Given the description of an element on the screen output the (x, y) to click on. 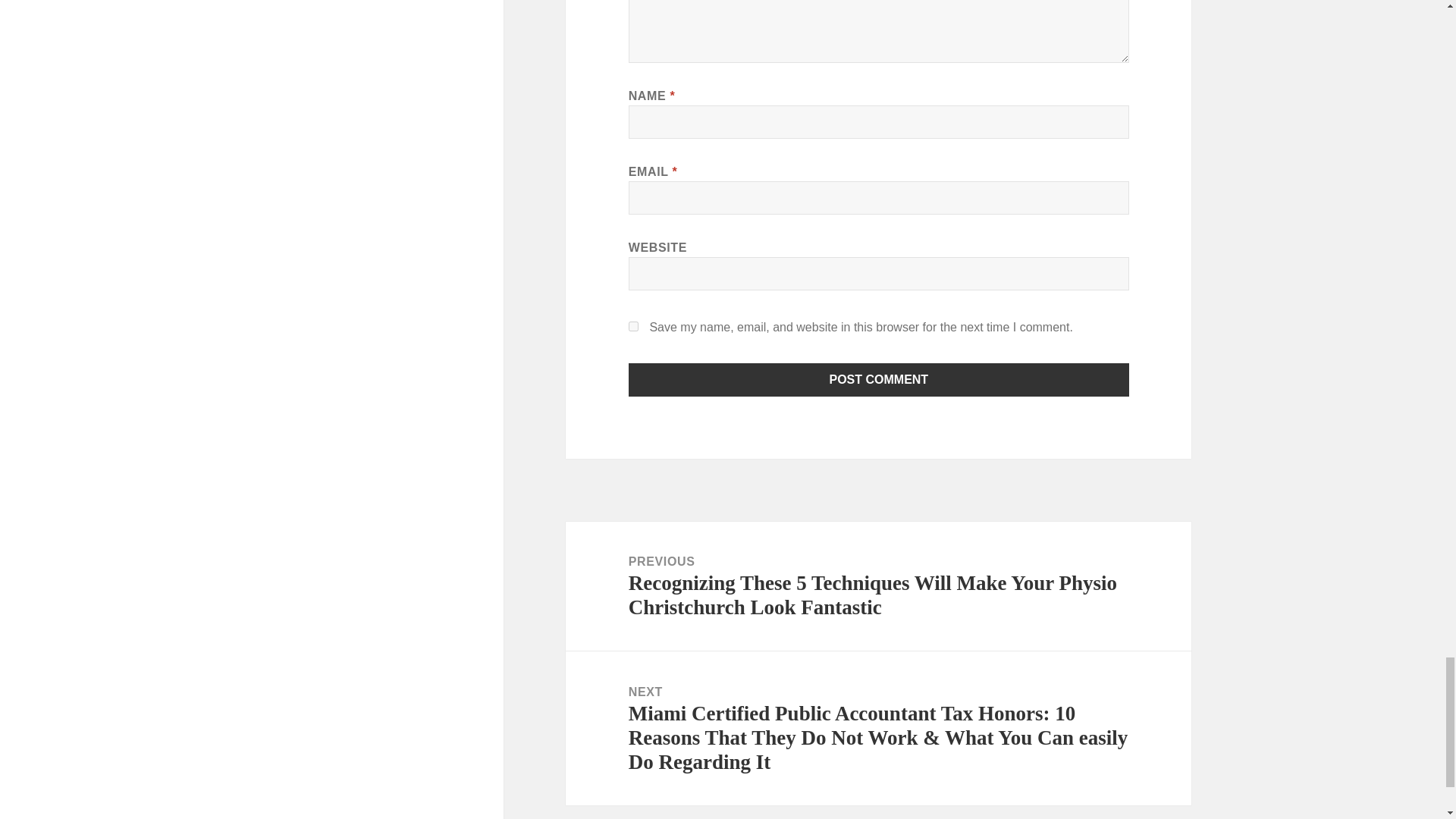
yes (633, 326)
Post Comment (878, 379)
Post Comment (878, 379)
